Given the description of an element on the screen output the (x, y) to click on. 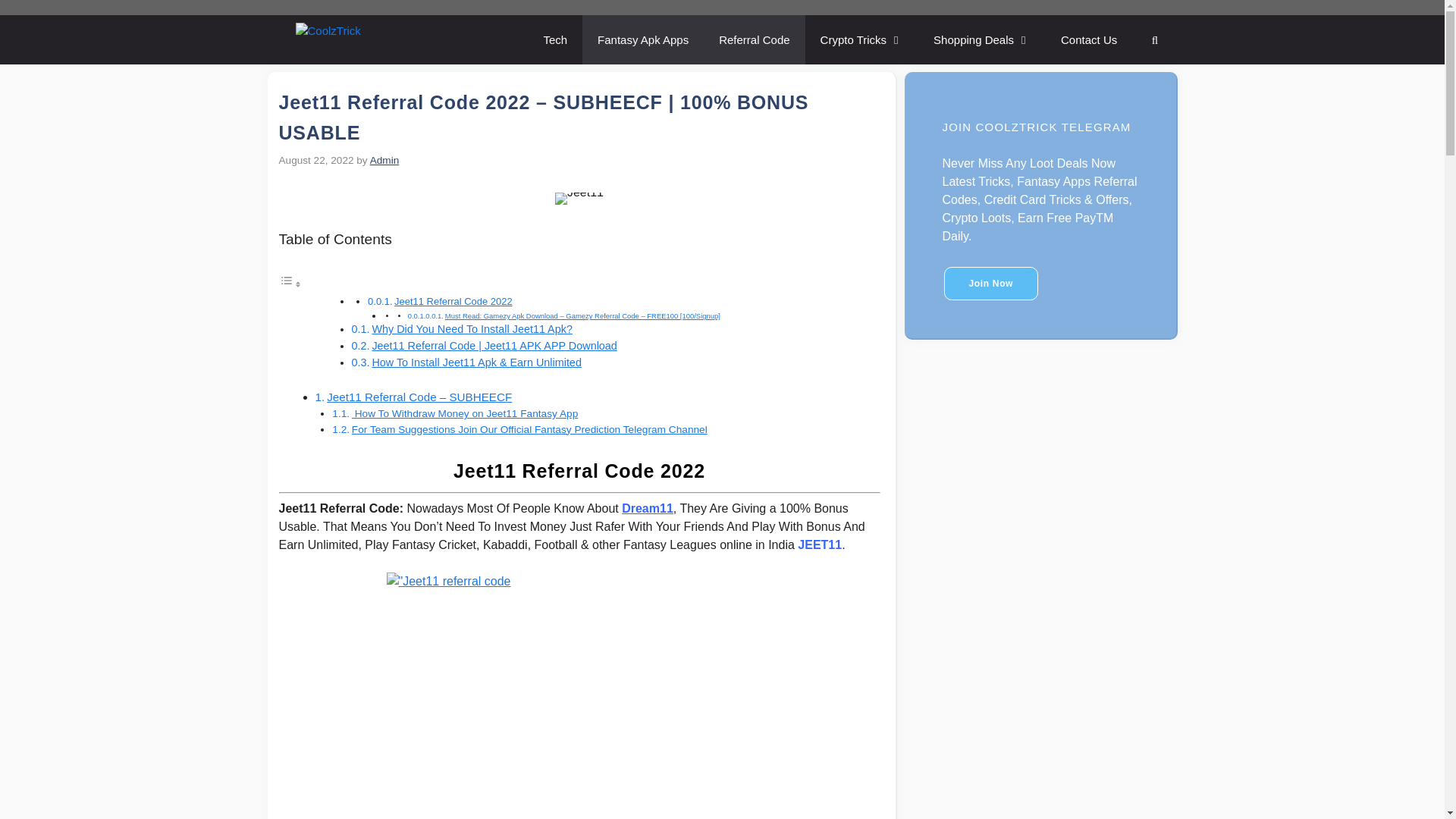
Admin (383, 160)
Dream11 (646, 508)
View all posts by Admin (383, 160)
Why Did You Need To Install Jeet11 Apk? (471, 328)
 How To Withdraw Money on Jeet11 Fantasy App (465, 413)
Shopping Deals (981, 39)
CoolzTrick (380, 39)
Referral Code (754, 39)
Jeet11 Referral Code 2022 (453, 301)
Crypto Tricks (861, 39)
Contact Us (1088, 39)
Why Did You Need To Install Jeet11 Apk? (471, 328)
